Given the description of an element on the screen output the (x, y) to click on. 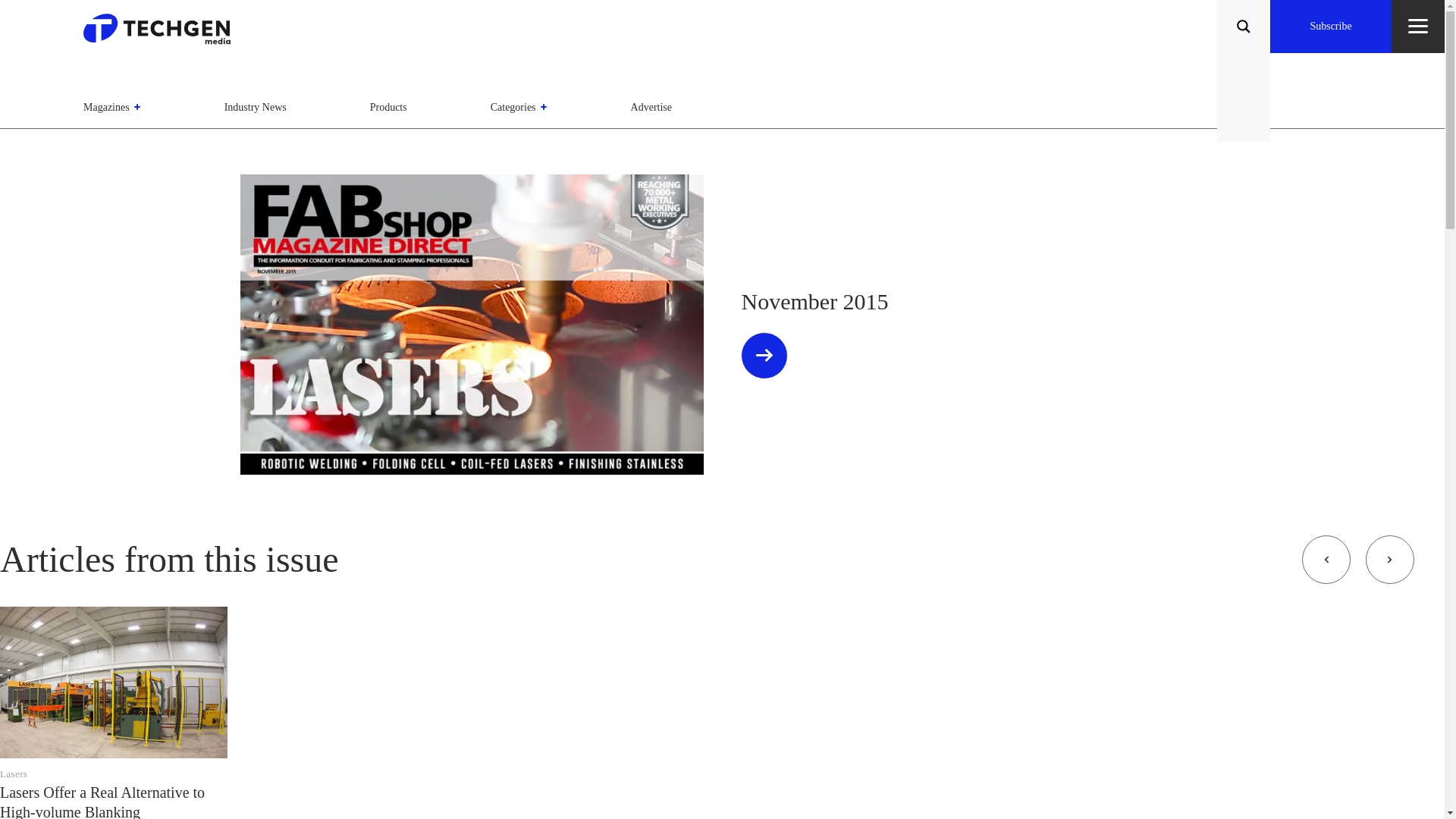
Lasers Offer a Real Alternative to High-volume Blanking (102, 801)
Subscribe (1330, 26)
Magazines (111, 107)
Products (388, 107)
Categories (518, 107)
Industry News (255, 107)
Lasers (13, 773)
Back to the homepage (162, 32)
Advertise (650, 107)
